Given the description of an element on the screen output the (x, y) to click on. 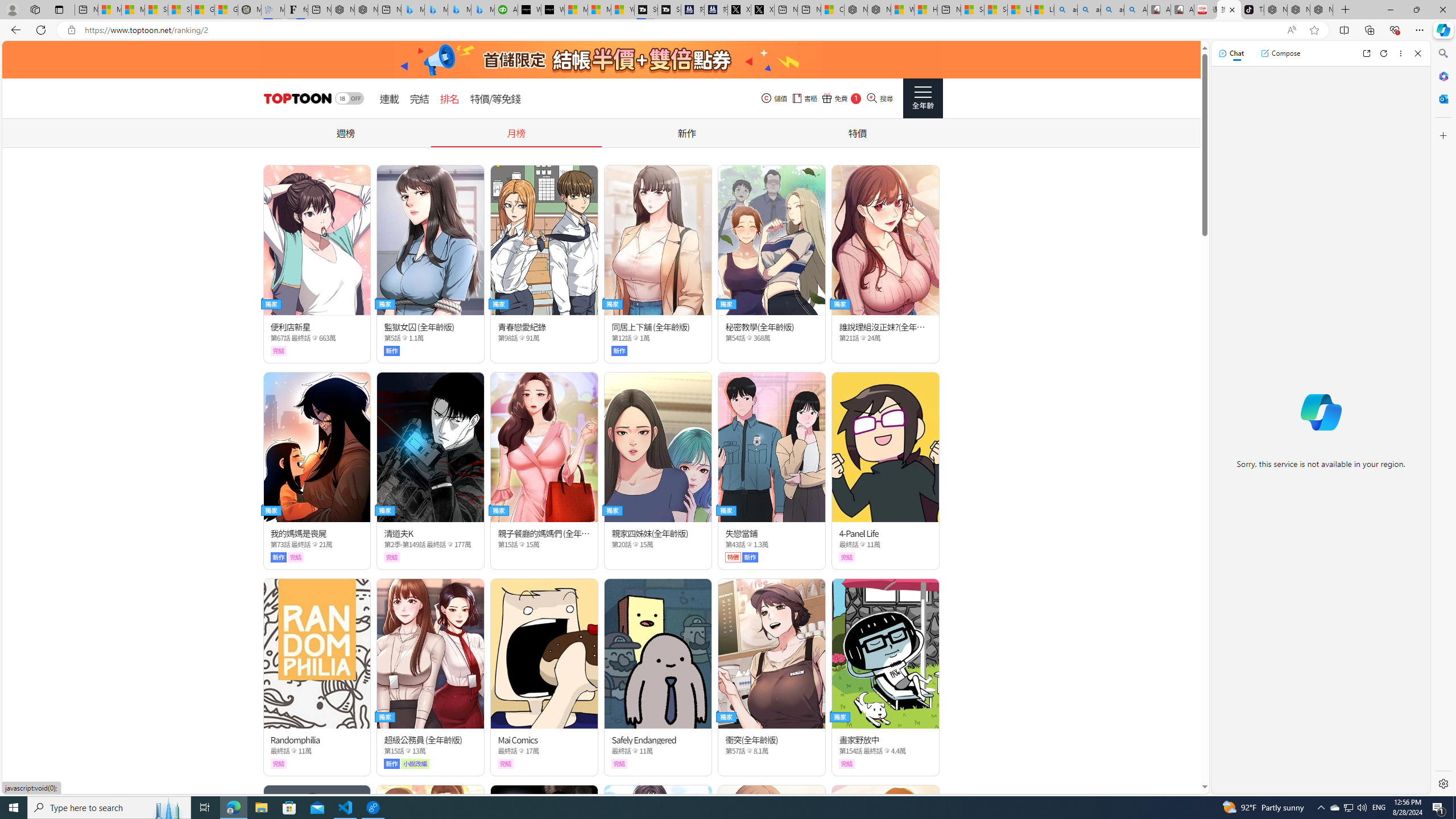
Outlook (1442, 98)
Microsoft Bing Travel - Stays in Bangkok, Bangkok, Thailand (435, 9)
Huge shark washes ashore at New York City beach | Watch (926, 9)
Class: epicon_starpoint (886, 750)
